Given the description of an element on the screen output the (x, y) to click on. 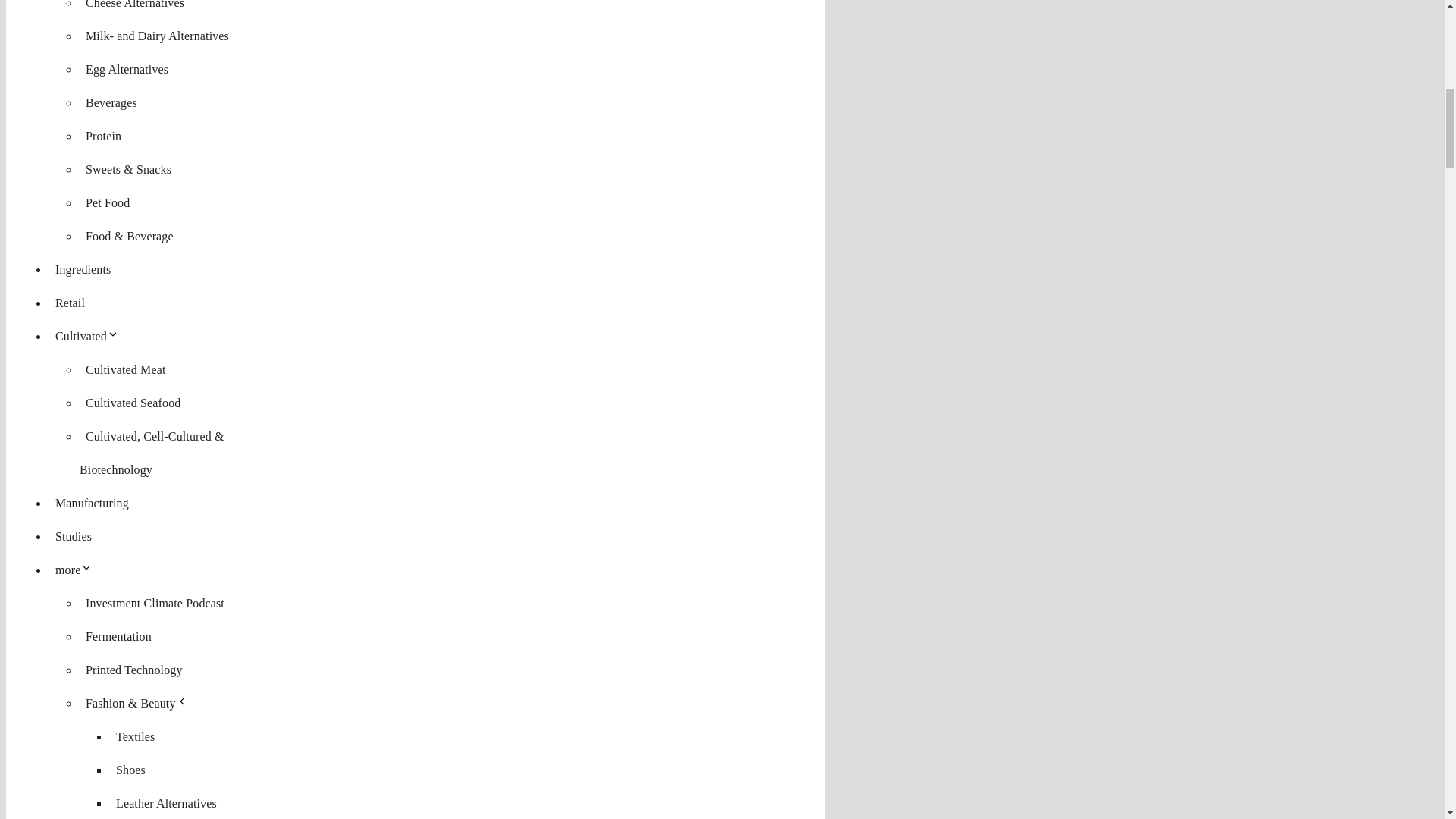
Investment Climate Podcast (155, 603)
more (76, 569)
Egg Alternatives (127, 69)
Cultivated Seafood (133, 402)
Beverages (111, 102)
Retail (69, 302)
Pet Food (107, 202)
Protein (104, 136)
Manufacturing (92, 502)
Cultivated Meat (125, 369)
Fermentation (118, 636)
Printed Technology (134, 669)
Studies (73, 535)
Milk- and Dairy Alternatives (157, 35)
Cultivated (90, 336)
